Given the description of an element on the screen output the (x, y) to click on. 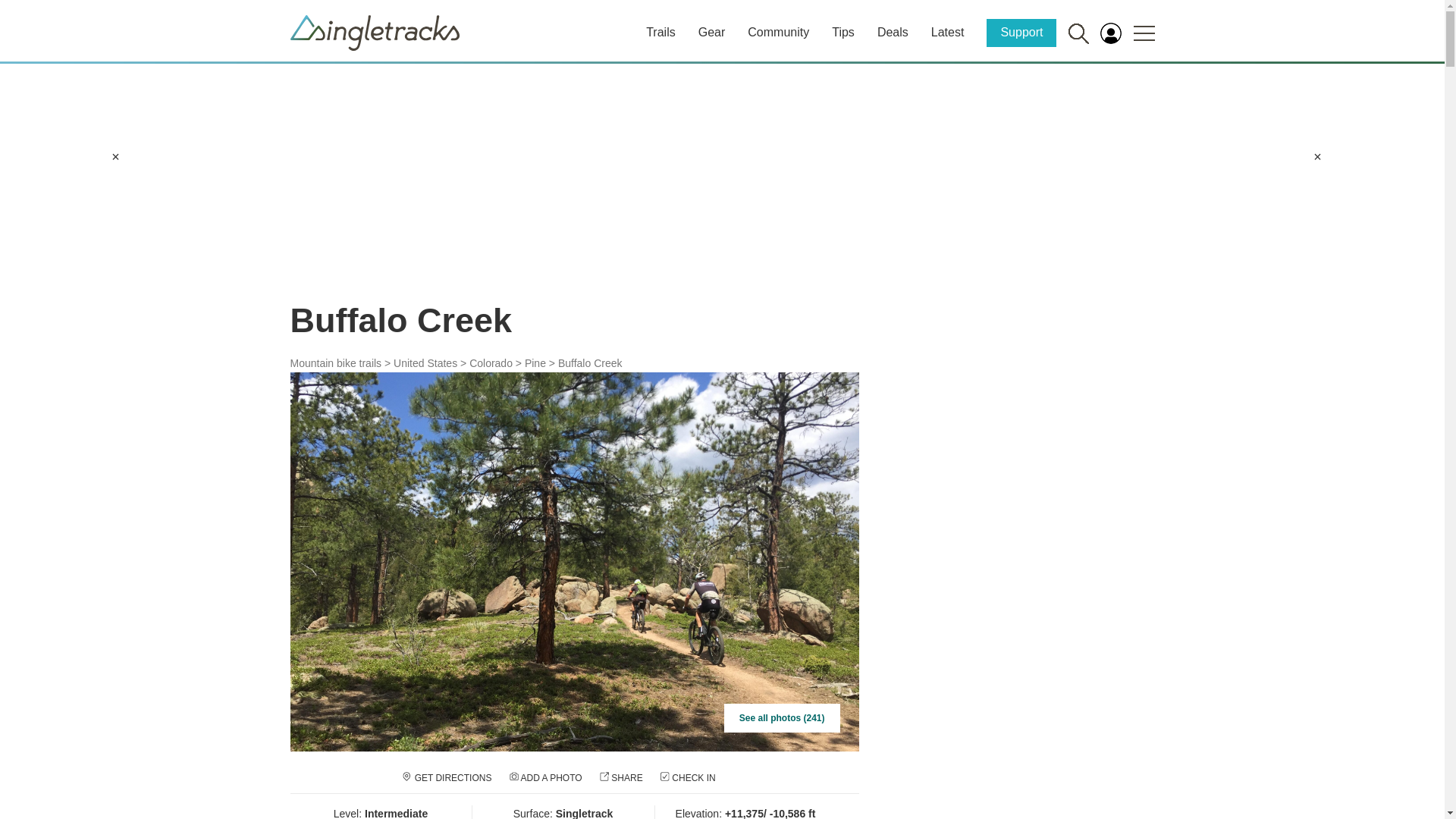
Trails (660, 31)
Tips (842, 31)
Community (778, 31)
Latest (947, 31)
Gear (711, 31)
close (1317, 156)
Support (1022, 32)
close (115, 156)
Deals (892, 31)
